Given the description of an element on the screen output the (x, y) to click on. 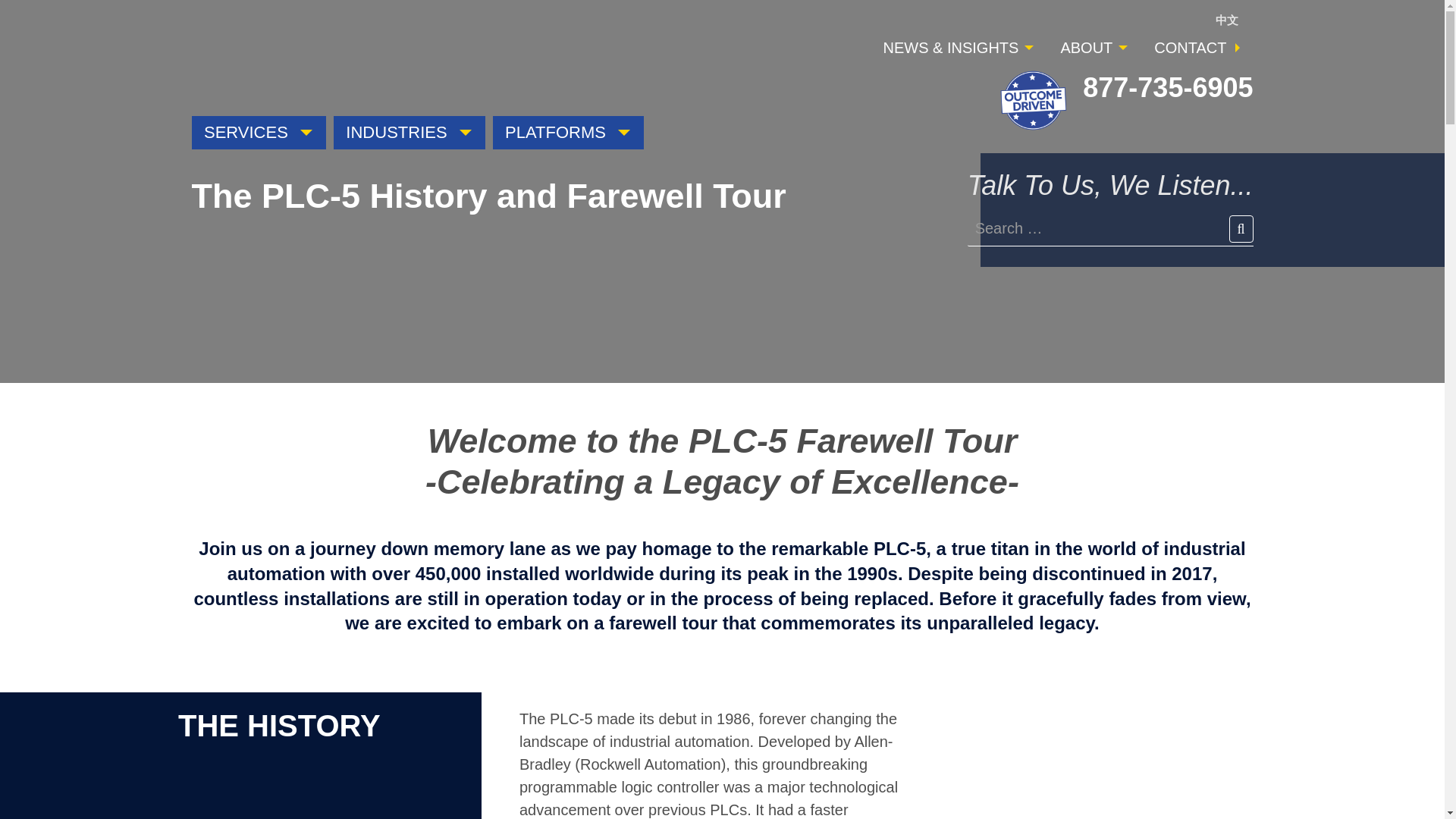
Logical Systems, Inc (285, 70)
SERVICES (257, 132)
INDUSTRIES (408, 132)
Search for: (1110, 228)
